Given the description of an element on the screen output the (x, y) to click on. 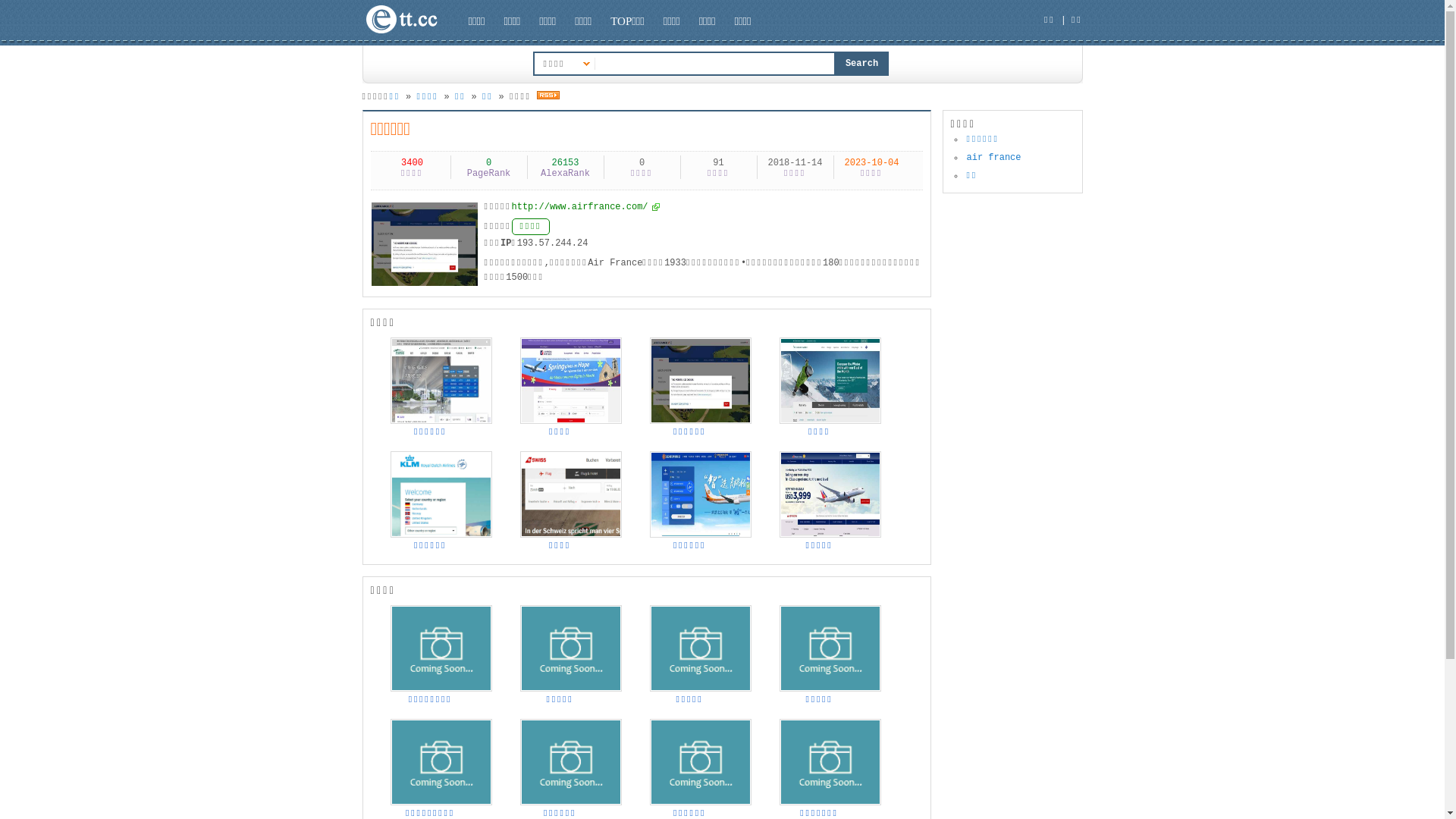
air france Element type: text (993, 157)
http://www.airfrance.com/ Element type: text (585, 206)
Search Element type: text (861, 63)
